Given the description of an element on the screen output the (x, y) to click on. 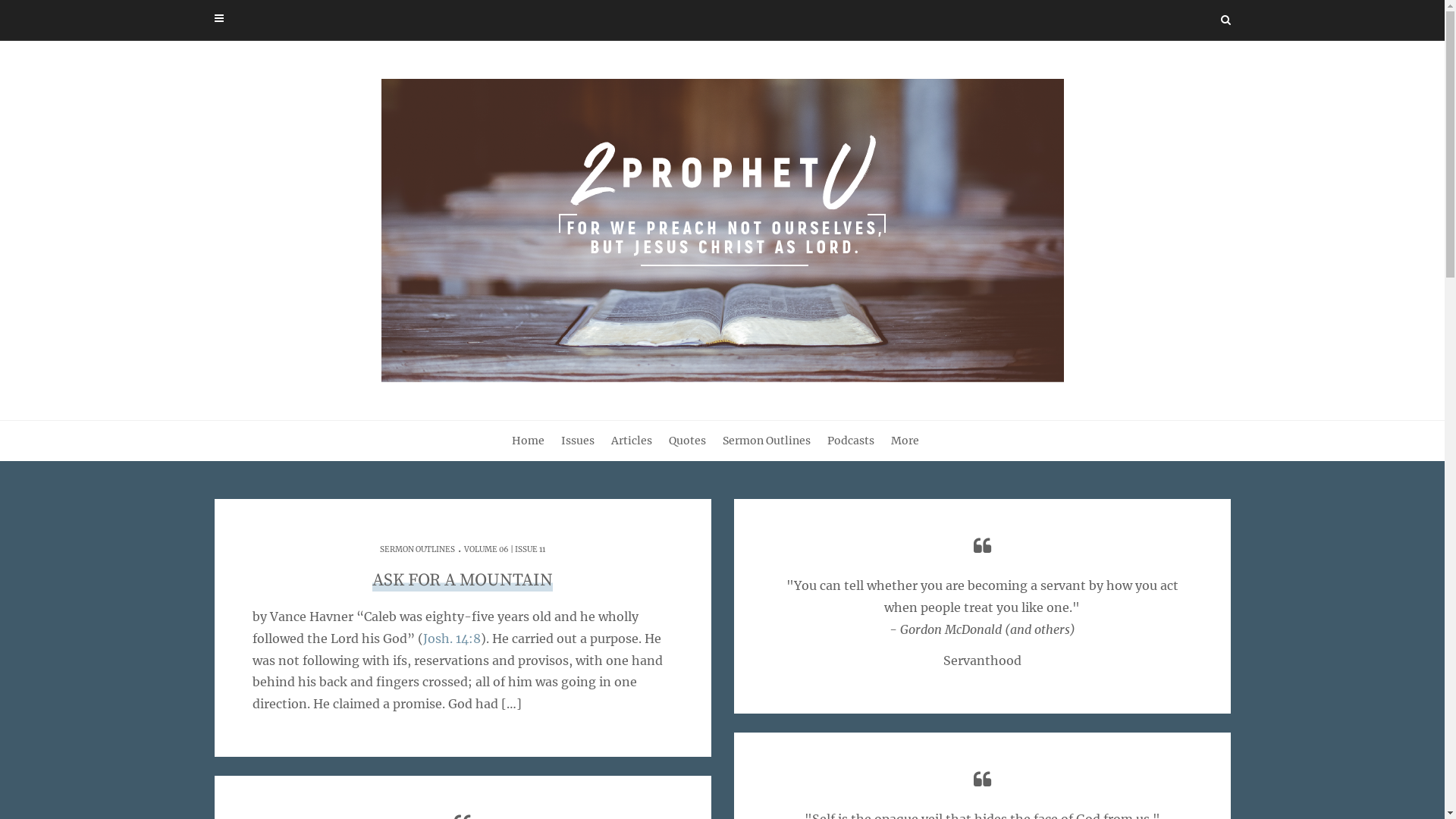
ASK FOR A MOUNTAIN Element type: text (462, 580)
Issues Element type: text (586, 440)
Sermon Outlines Element type: text (774, 440)
Articles Element type: text (640, 440)
More Element type: text (913, 440)
Home Element type: text (536, 440)
VOLUME 06 | ISSUE 11 Element type: text (504, 549)
Podcasts Element type: text (858, 440)
Quotes Element type: text (696, 440)
SERMON OUTLINES Element type: text (417, 549)
Josh. 14:8 Element type: text (451, 638)
